Given the description of an element on the screen output the (x, y) to click on. 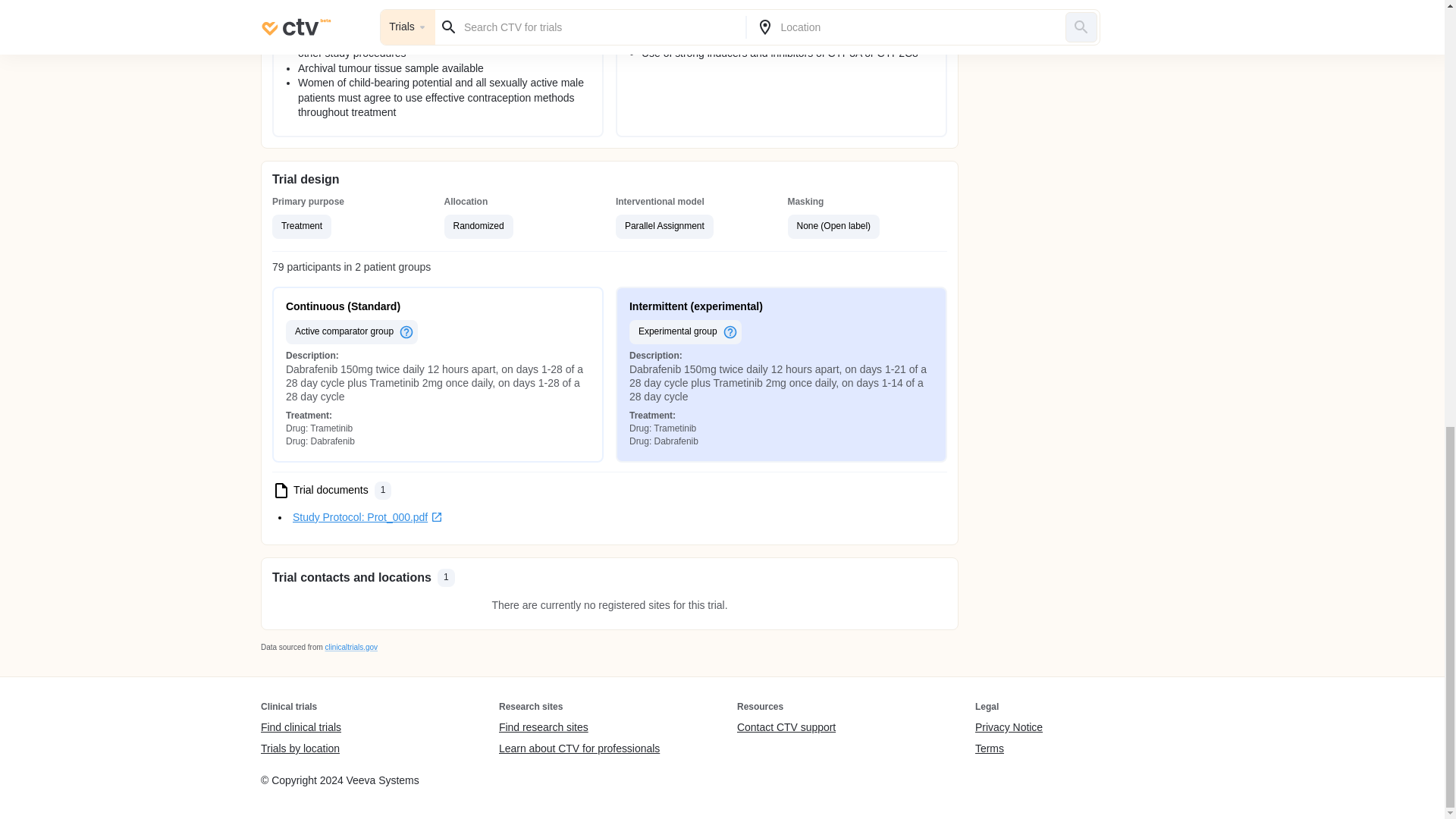
Find research sites (579, 727)
Privacy Notice (1008, 727)
clinicaltrials.gov (350, 646)
Trials by location (300, 748)
Terms (1008, 748)
Contact CTV support (785, 727)
Find clinical trials (300, 727)
Learn about CTV for professionals (579, 748)
